Given the description of an element on the screen output the (x, y) to click on. 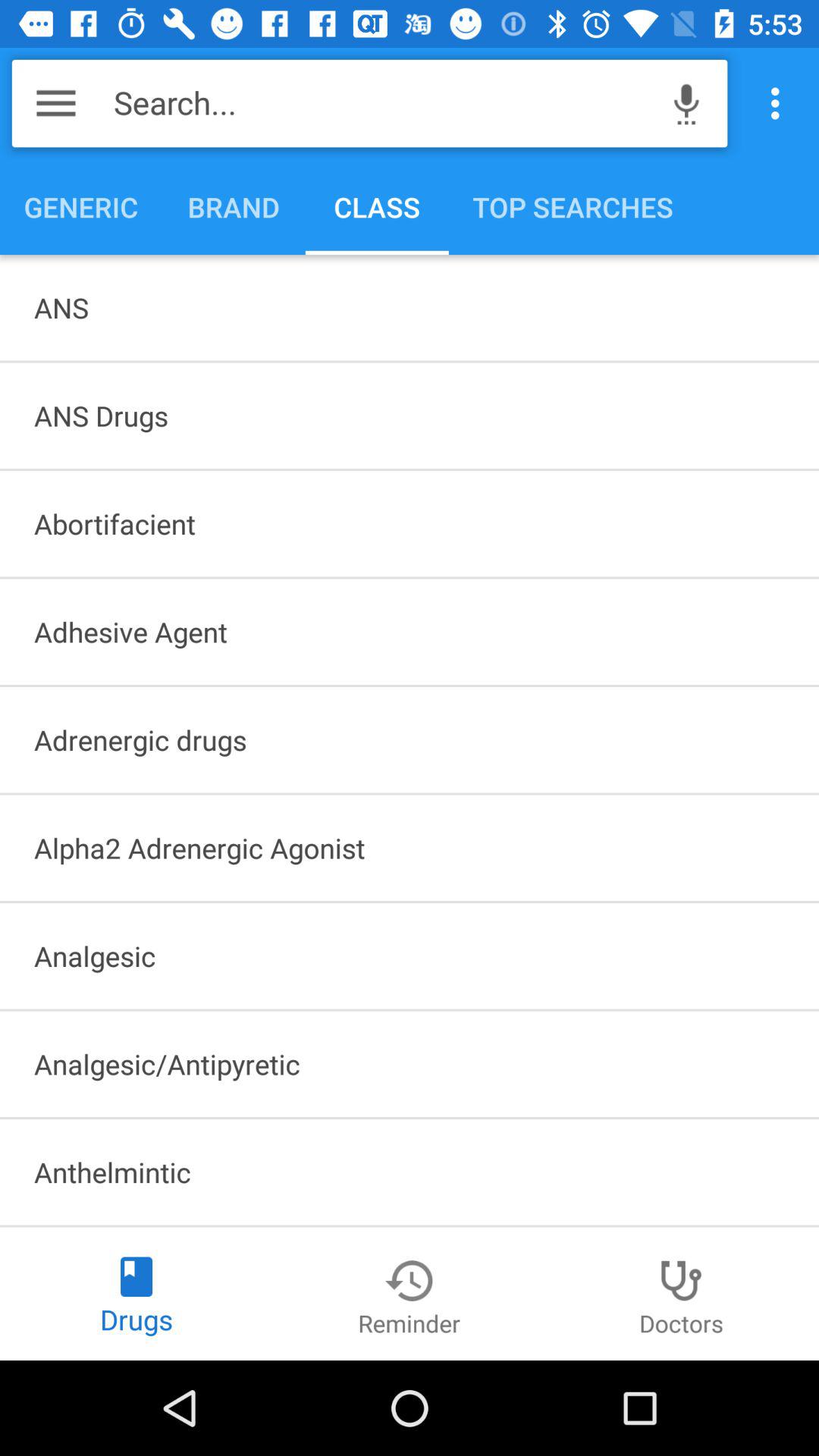
click search... (383, 103)
